Given the description of an element on the screen output the (x, y) to click on. 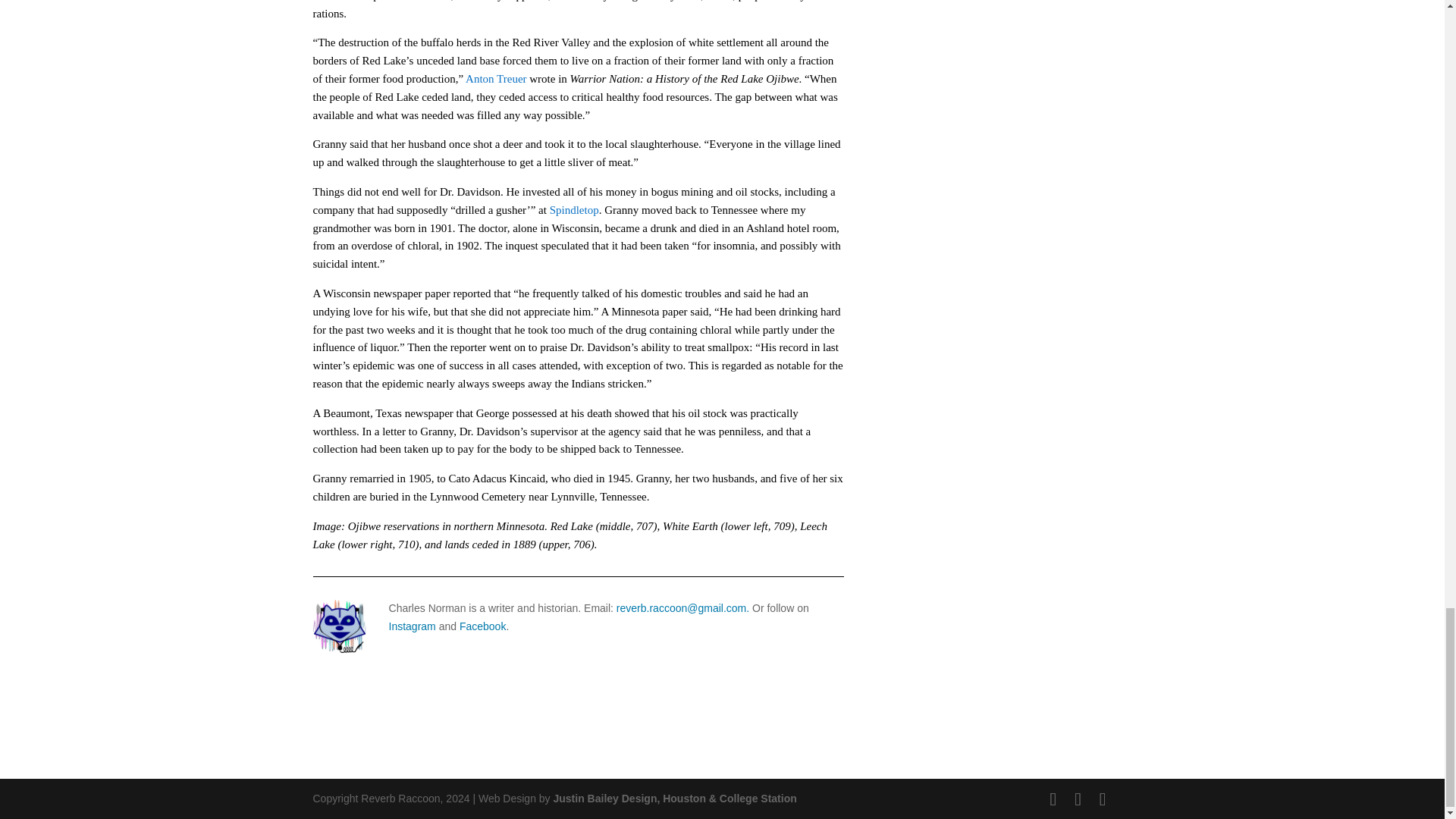
Anton Treuer (495, 78)
Facebook (482, 625)
Spindletop (574, 209)
Instagram (411, 625)
